Given the description of an element on the screen output the (x, y) to click on. 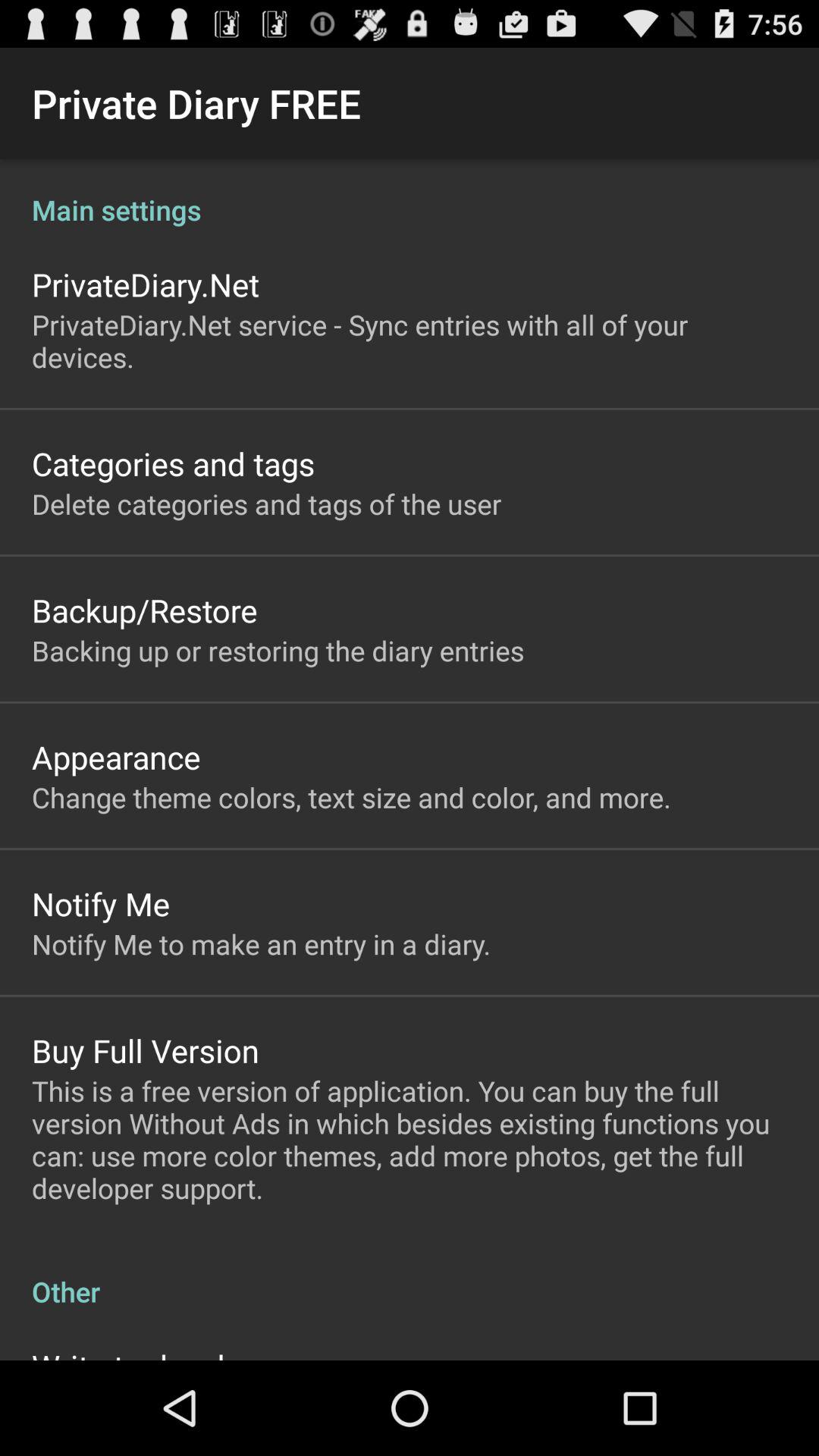
scroll to main settings item (409, 193)
